Given the description of an element on the screen output the (x, y) to click on. 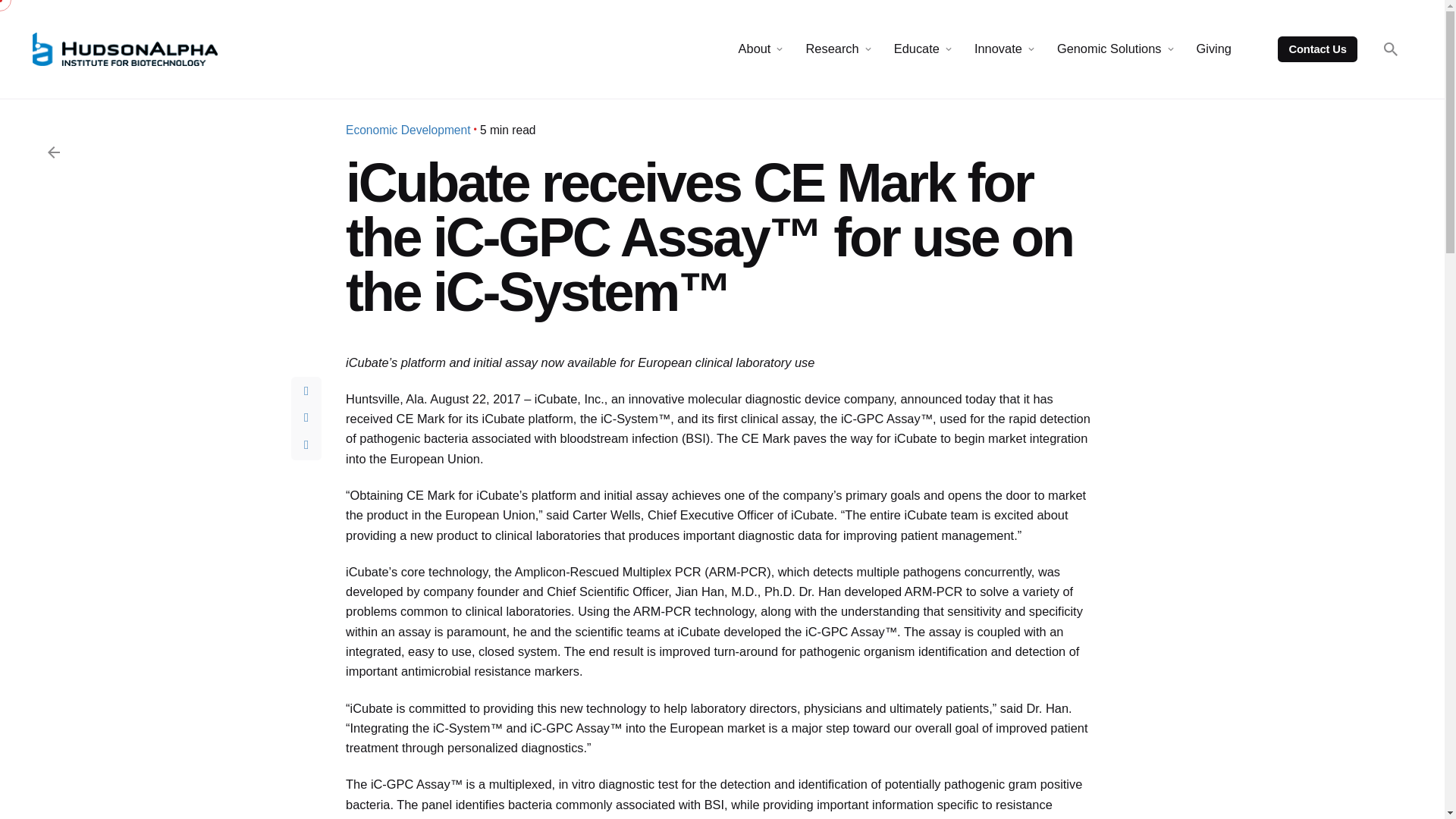
Research (831, 49)
About (754, 49)
